Given the description of an element on the screen output the (x, y) to click on. 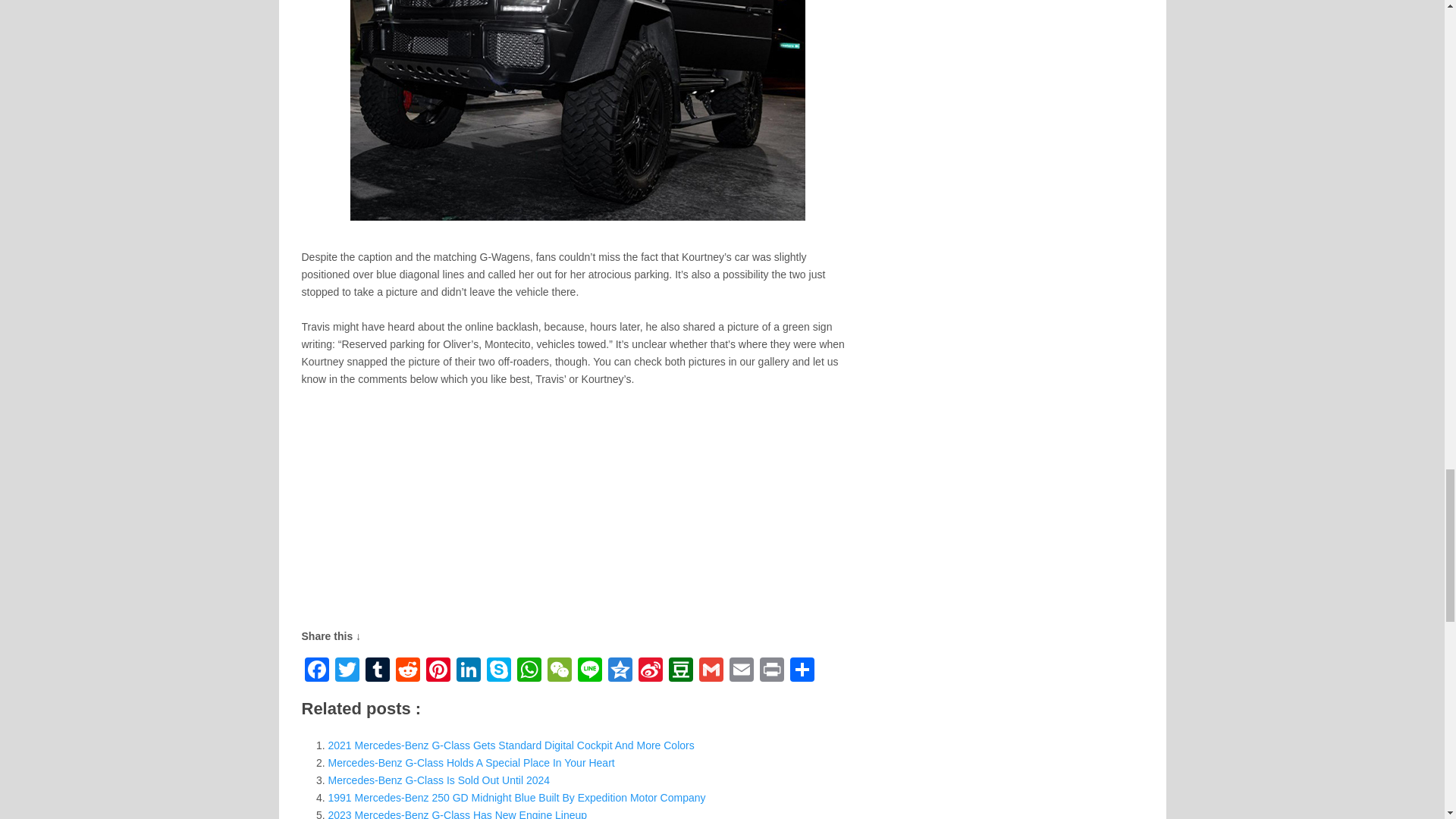
Facebook (316, 671)
Twitter (346, 671)
Tumblr (377, 671)
